Given the description of an element on the screen output the (x, y) to click on. 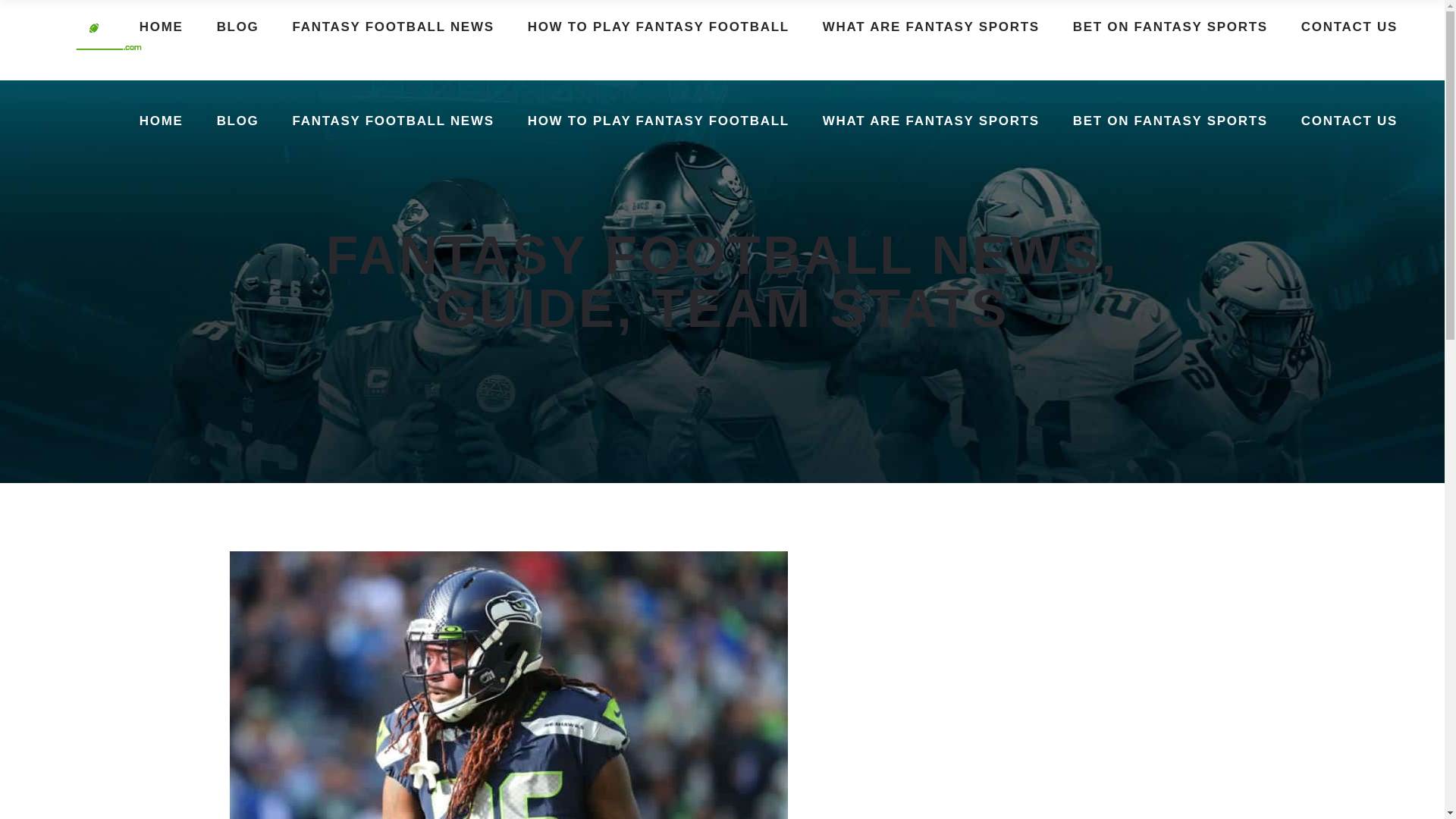
BLOG (238, 26)
BET ON FANTASY SPORTS (1170, 26)
HOW TO PLAY FANTASY FOOTBALL (658, 26)
WHAT ARE FANTASY SPORTS (931, 26)
FANTASY FOOTBALL NEWS (393, 26)
BLOG (238, 120)
BET ON FANTASY SPORTS (1170, 120)
CONTACT US (1348, 120)
WHAT ARE FANTASY SPORTS (931, 120)
HOME (161, 26)
HOW TO PLAY FANTASY FOOTBALL (658, 120)
FANTASY FOOTBALL NEWS (393, 120)
CONTACT US (1348, 26)
HOME (161, 120)
